Given the description of an element on the screen output the (x, y) to click on. 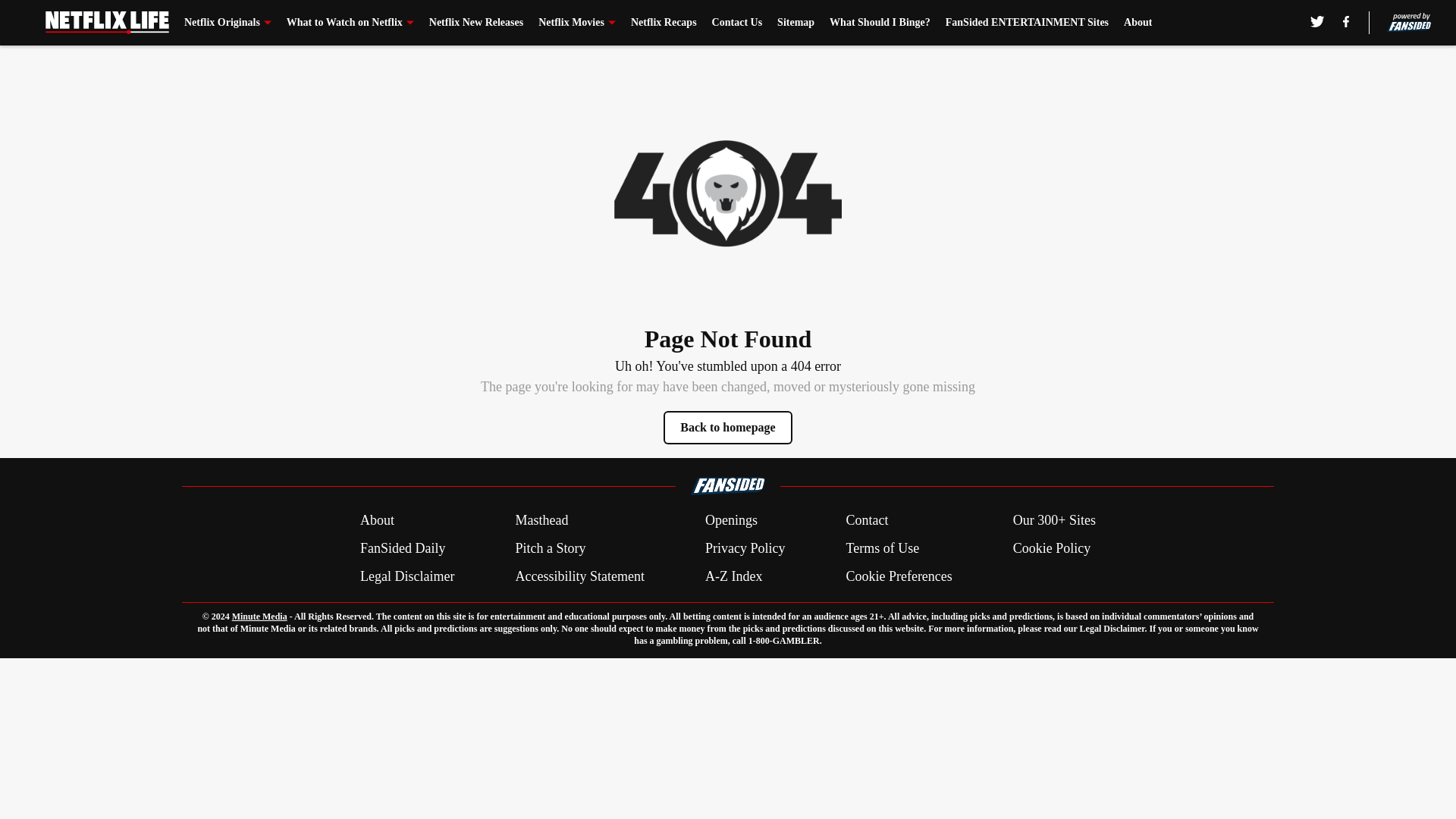
Netflix Originals (227, 22)
Error image (727, 193)
Netflix New Releases (475, 22)
What to Watch on Netflix (349, 22)
Netflix Movies (576, 22)
